Given the description of an element on the screen output the (x, y) to click on. 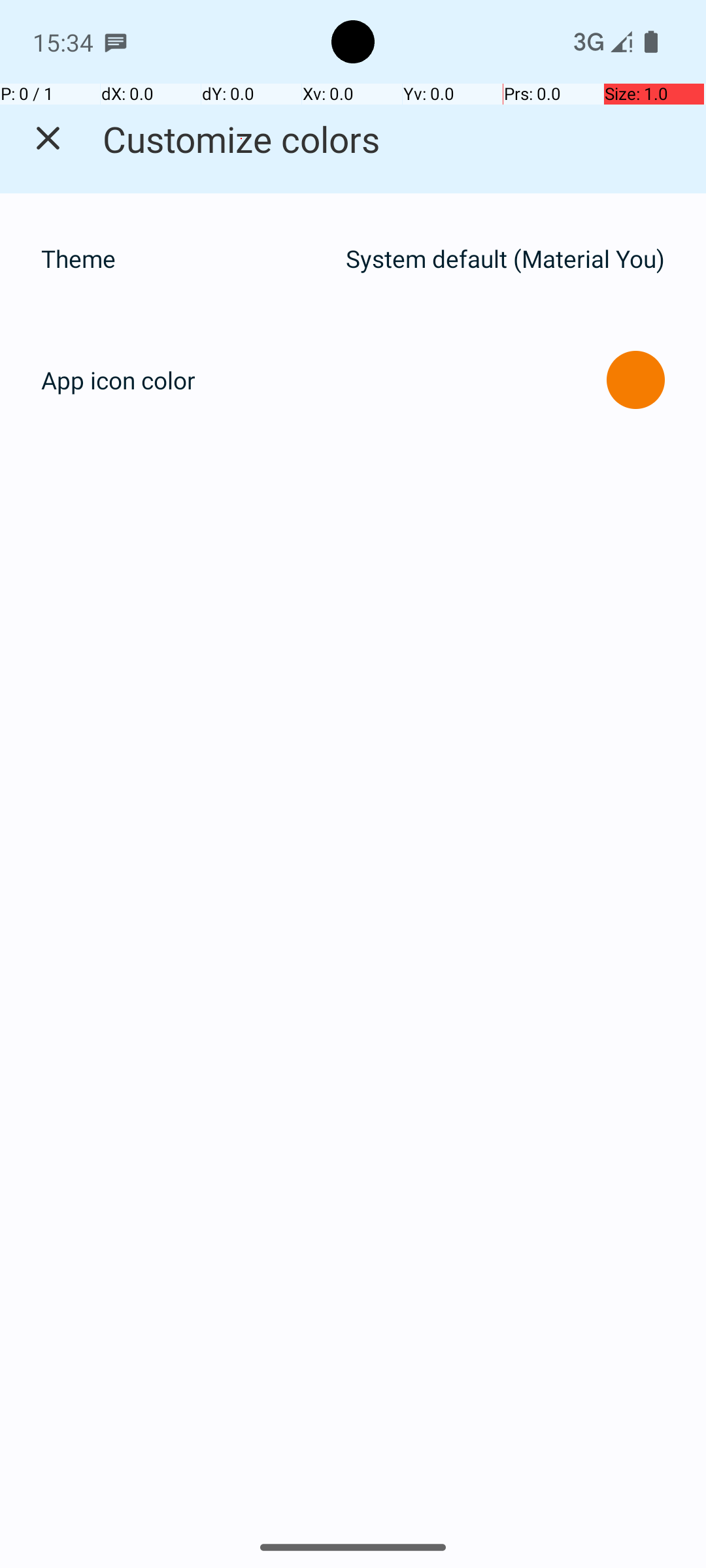
System default (Material You) Element type: android.widget.TextView (504, 258)
App icon color Element type: android.widget.TextView (118, 379)
